Given the description of an element on the screen output the (x, y) to click on. 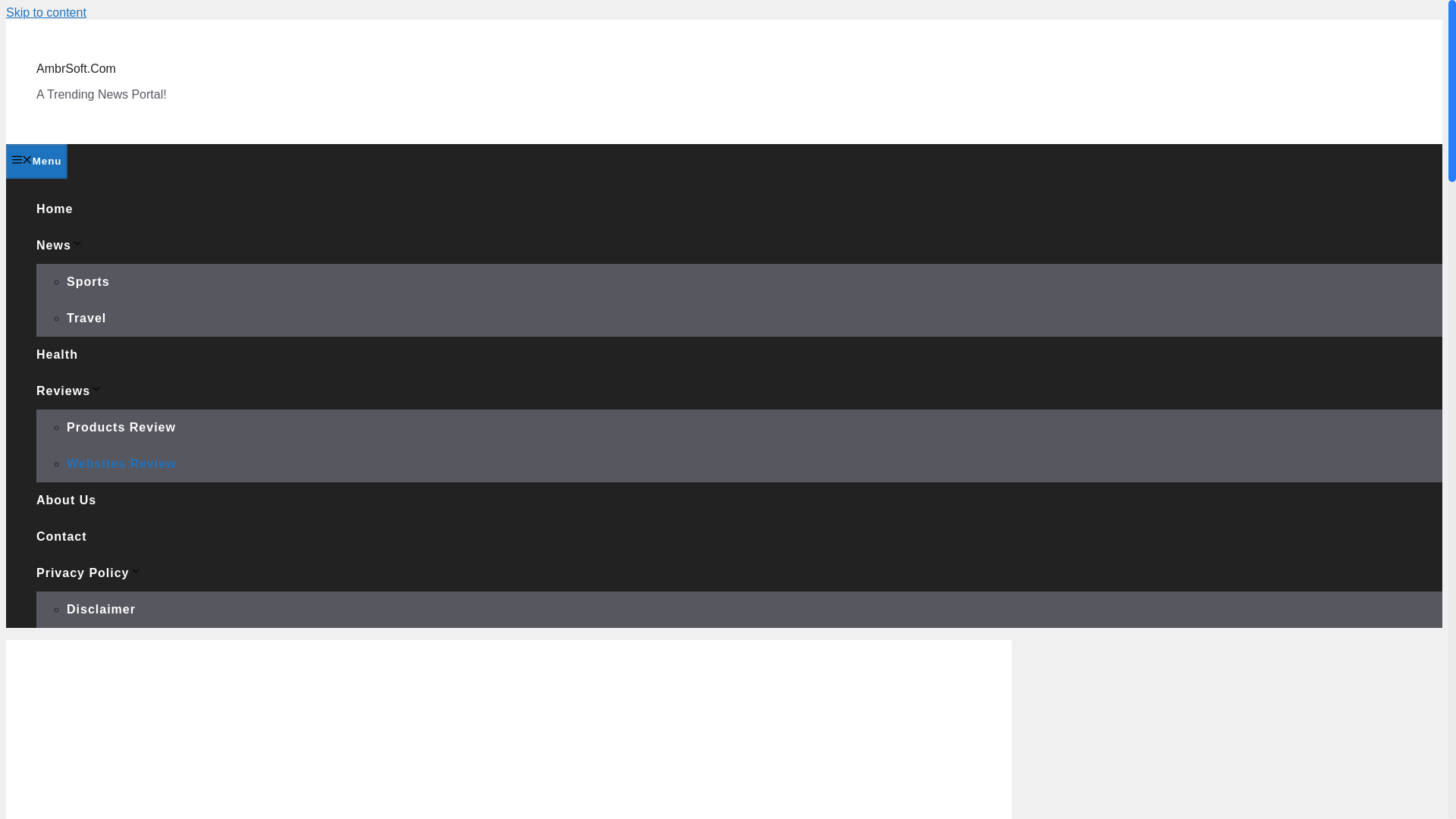
Travel (86, 318)
Privacy Policy (88, 572)
Menu (35, 161)
Skip to content (45, 11)
Websites Review (121, 463)
About Us (66, 499)
Health (57, 354)
Home (54, 208)
News (59, 245)
Disclaimer (100, 608)
AmbrSoft.Com (76, 68)
Reviews (68, 390)
Sports (88, 281)
Contact (61, 535)
Products Review (121, 427)
